Given the description of an element on the screen output the (x, y) to click on. 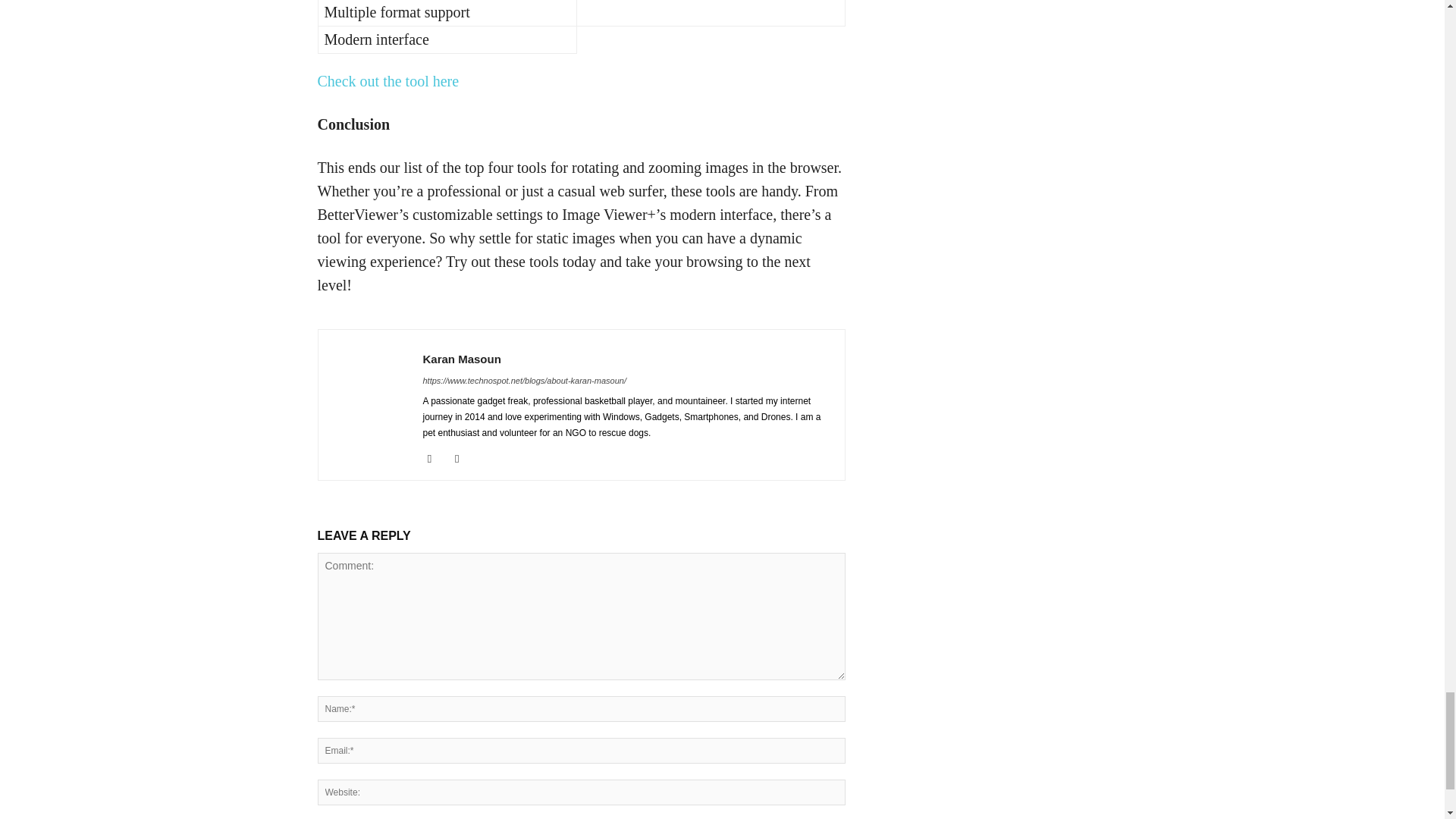
Check out the tool here (387, 80)
Karan Masoun (461, 358)
